Given the description of an element on the screen output the (x, y) to click on. 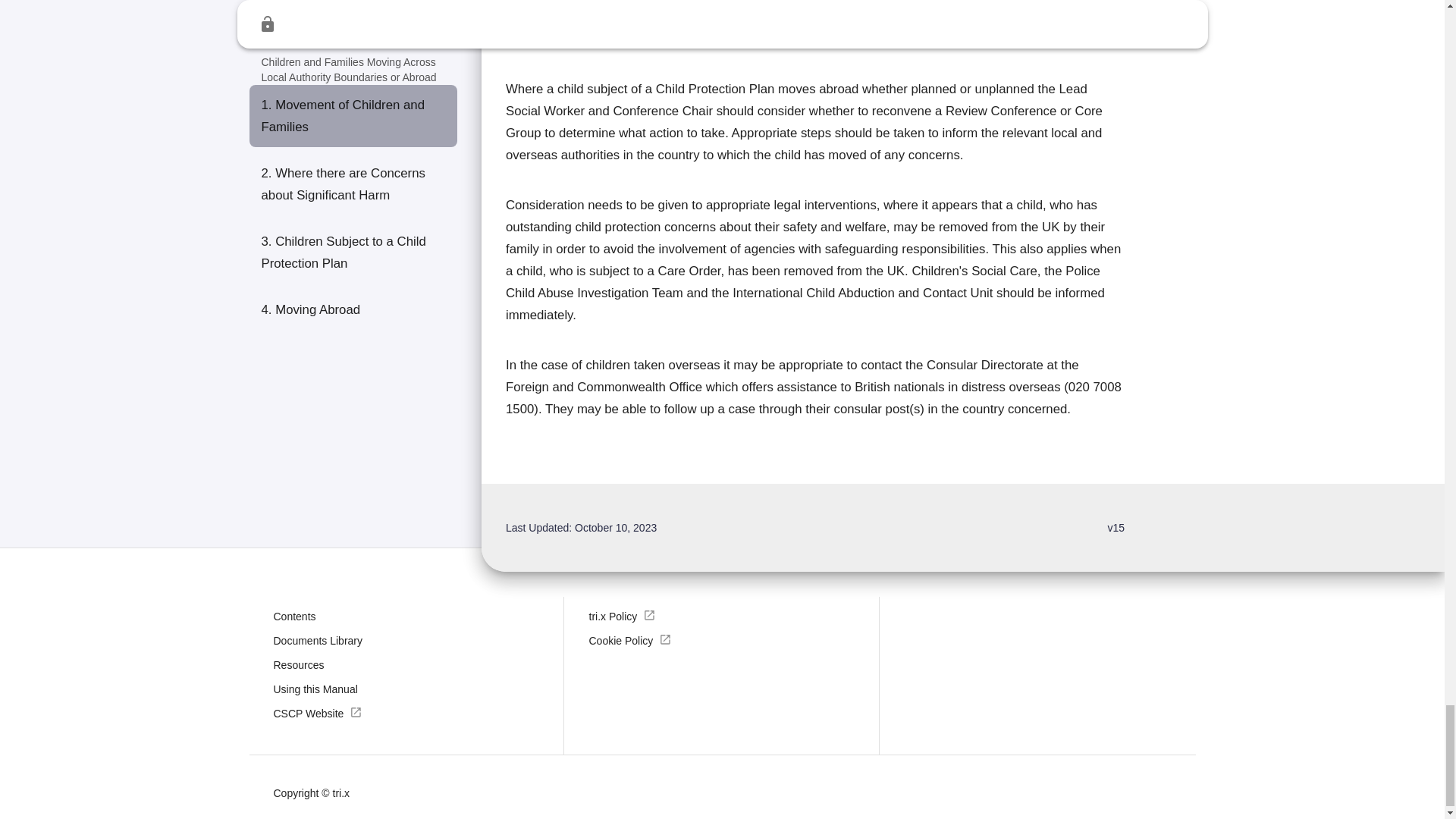
Resources (298, 664)
Contents (294, 616)
Cookie Policy (629, 640)
Using this Manual (314, 688)
CSCP Website (317, 713)
Documents Library (317, 640)
tri.x Policy (622, 616)
